Given the description of an element on the screen output the (x, y) to click on. 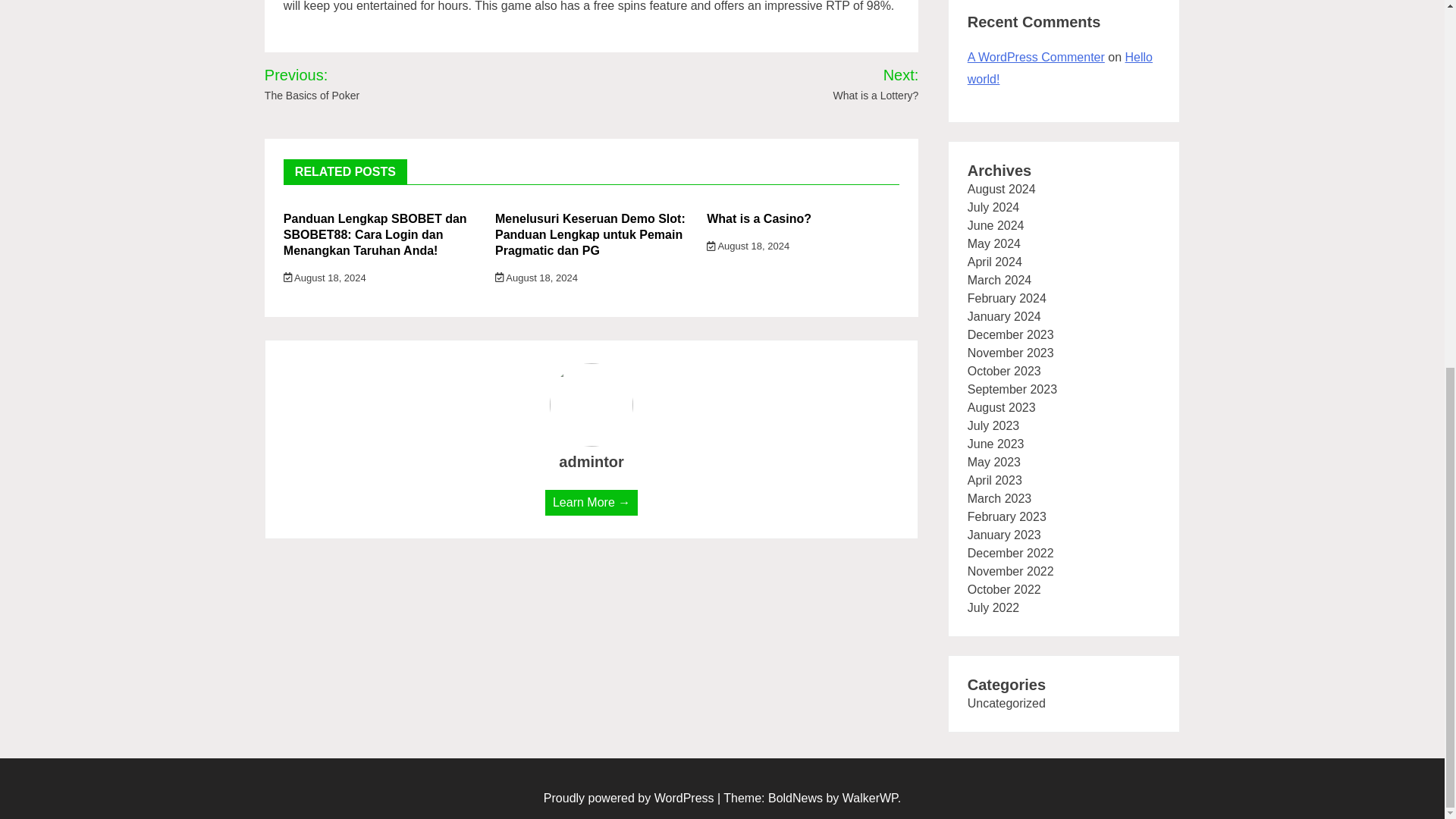
June 2024 (996, 225)
August 18, 2024 (324, 277)
August 18, 2024 (747, 245)
Hello world! (1060, 67)
April 2024 (995, 261)
August 2024 (1001, 188)
Previous: The Basics of Poker (345, 83)
July 2024 (994, 206)
May 2024 (994, 243)
August 18, 2024 (536, 277)
